Given the description of an element on the screen output the (x, y) to click on. 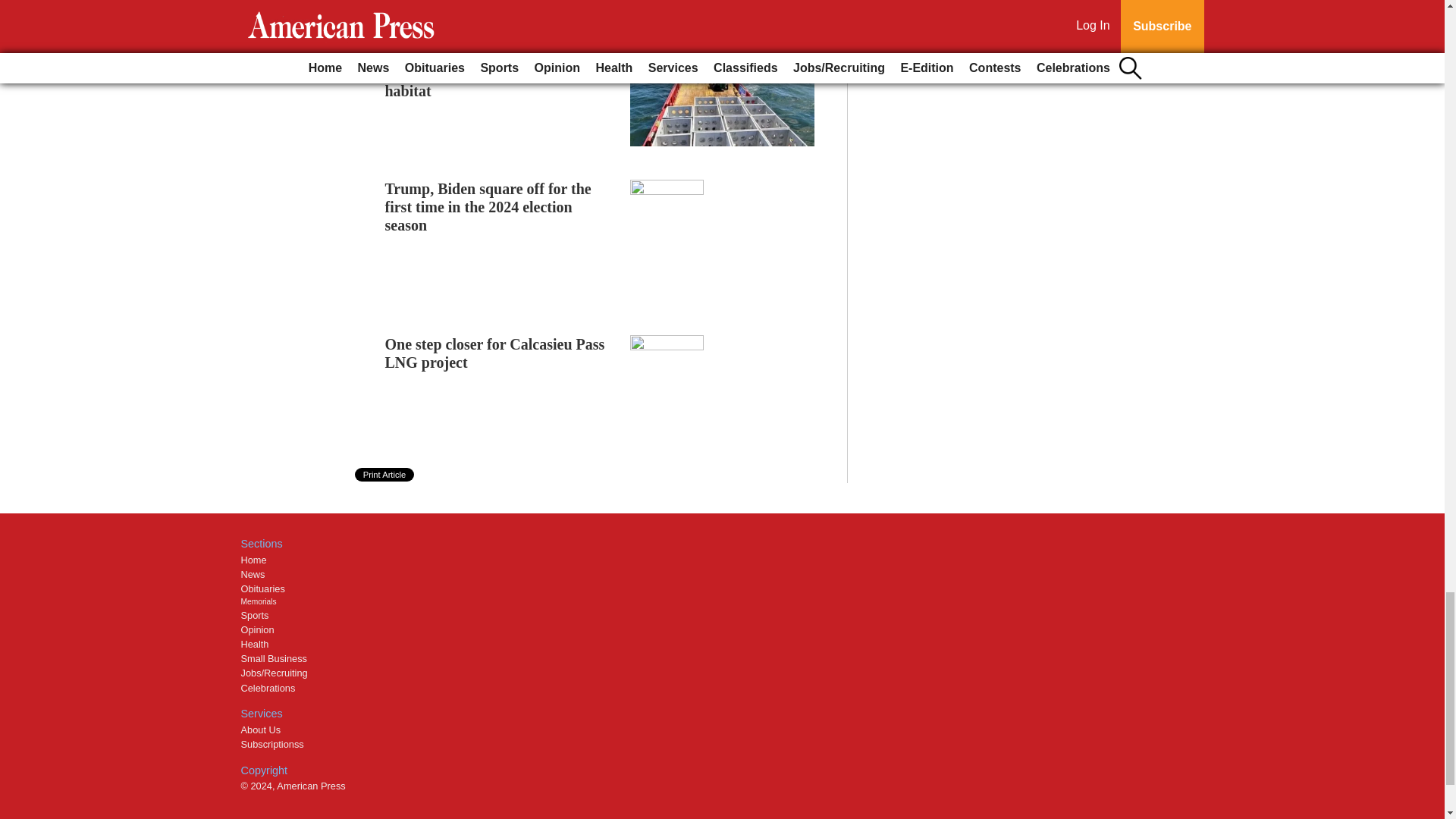
One step closer for Calcasieu Pass LNG project (495, 353)
Print Article (384, 474)
One step closer for Calcasieu Pass LNG project (495, 353)
